Given the description of an element on the screen output the (x, y) to click on. 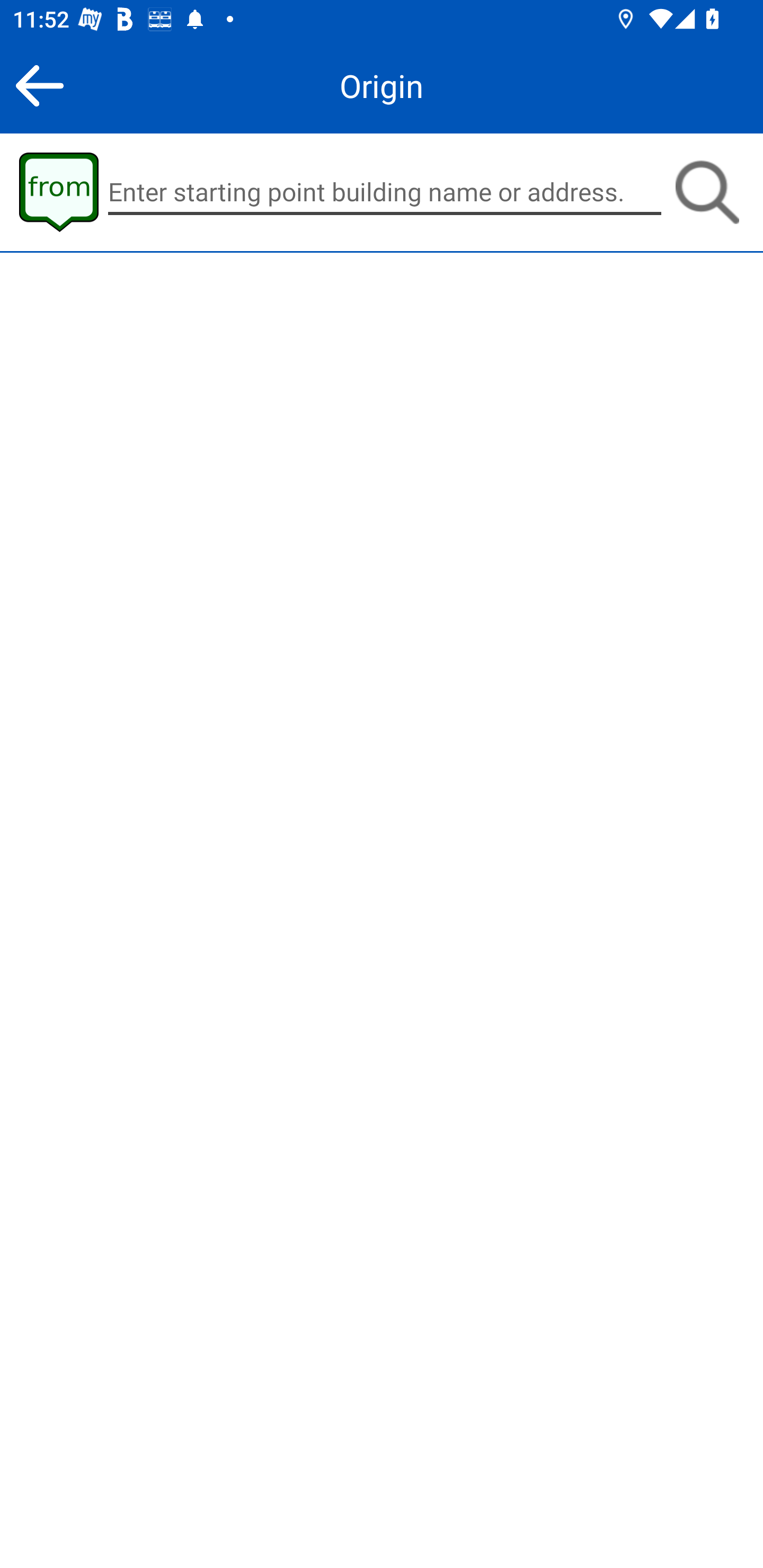
Back (39, 85)
Enter starting point building name or address. (384, 191)
Search (707, 191)
